Given the description of an element on the screen output the (x, y) to click on. 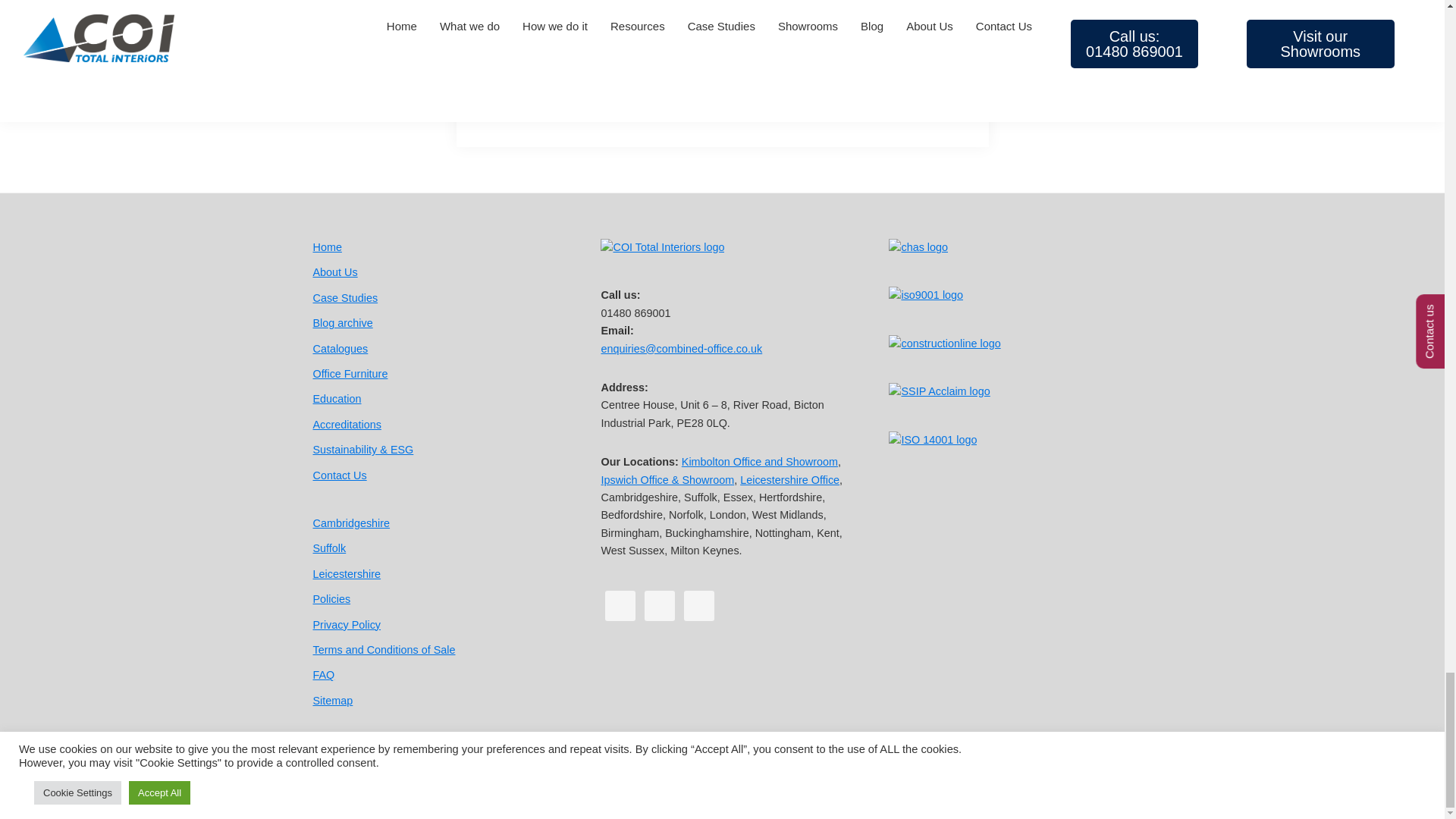
Submit (558, 6)
